Given the description of an element on the screen output the (x, y) to click on. 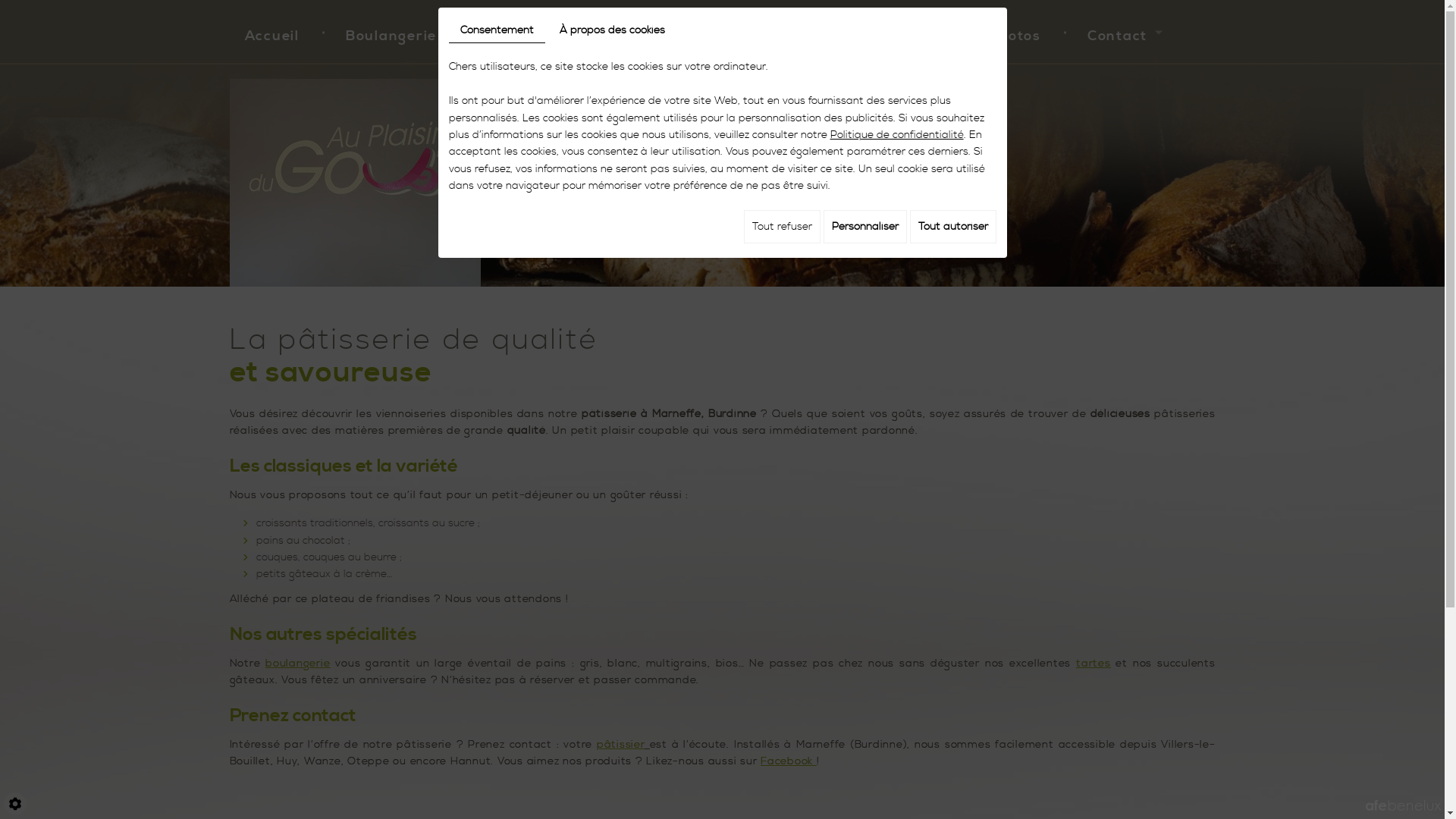
Boulangerie Element type: text (390, 32)
Personnaliser Element type: text (864, 226)
boulangerie Element type: text (297, 663)
Contact Element type: text (1121, 32)
Accueil Element type: text (271, 32)
Tout autoriser Element type: text (953, 226)
Consentement Element type: text (496, 30)
Facebook  Element type: text (788, 761)
tartes Element type: text (1093, 663)
Galerie photos Element type: text (985, 32)
Chocolaterie Element type: text (836, 32)
Tout refuser Element type: text (781, 226)
